Given the description of an element on the screen output the (x, y) to click on. 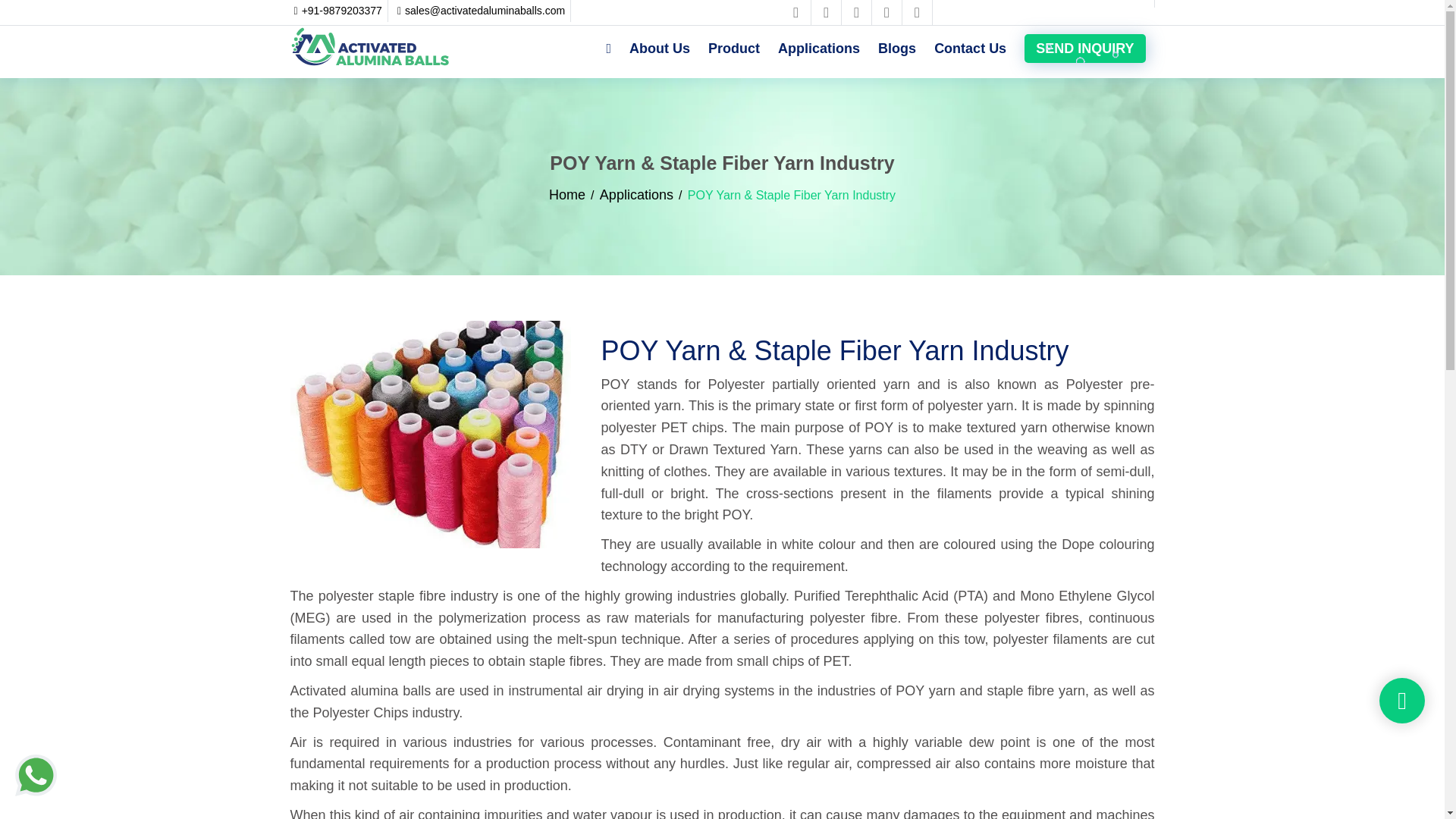
SEND INQUIRY (1084, 51)
Inquiry (1084, 48)
Contact Us (969, 48)
Home page (369, 45)
About Us (659, 48)
Go to our Twitter (825, 12)
Blogs (896, 48)
Applications (818, 48)
Go to our Instagram (886, 12)
Applications (635, 194)
Home (566, 194)
Go to our Facebook (795, 12)
SEND INQUIRY (1084, 48)
Go to our Linkedin (856, 12)
Go back to up Click here (1401, 700)
